Given the description of an element on the screen output the (x, y) to click on. 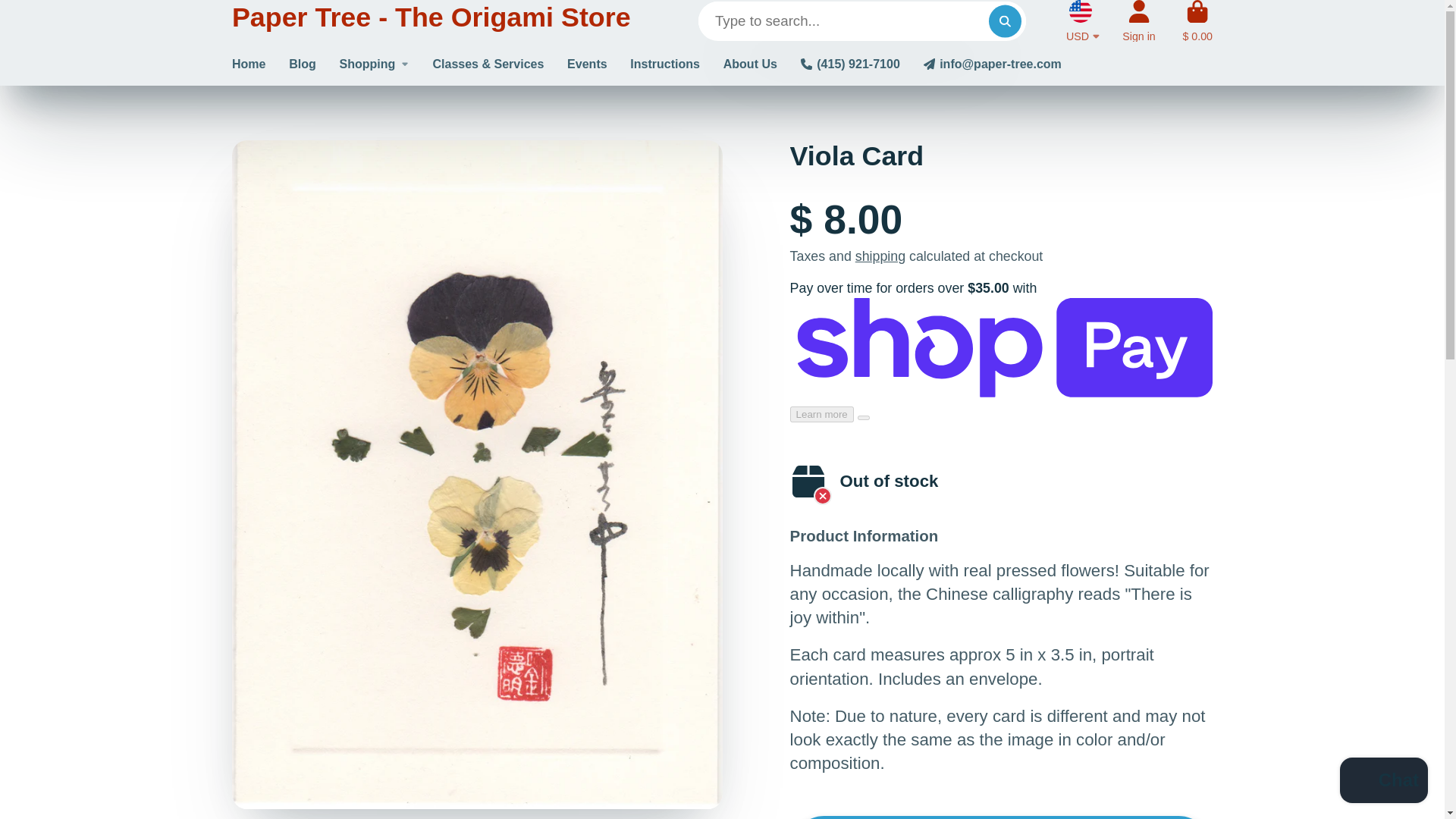
Shopify online store chat (1383, 781)
Logo (430, 20)
Events (587, 63)
Instructions (665, 63)
shipping (880, 255)
Shopping (374, 63)
About Us (750, 63)
